Given the description of an element on the screen output the (x, y) to click on. 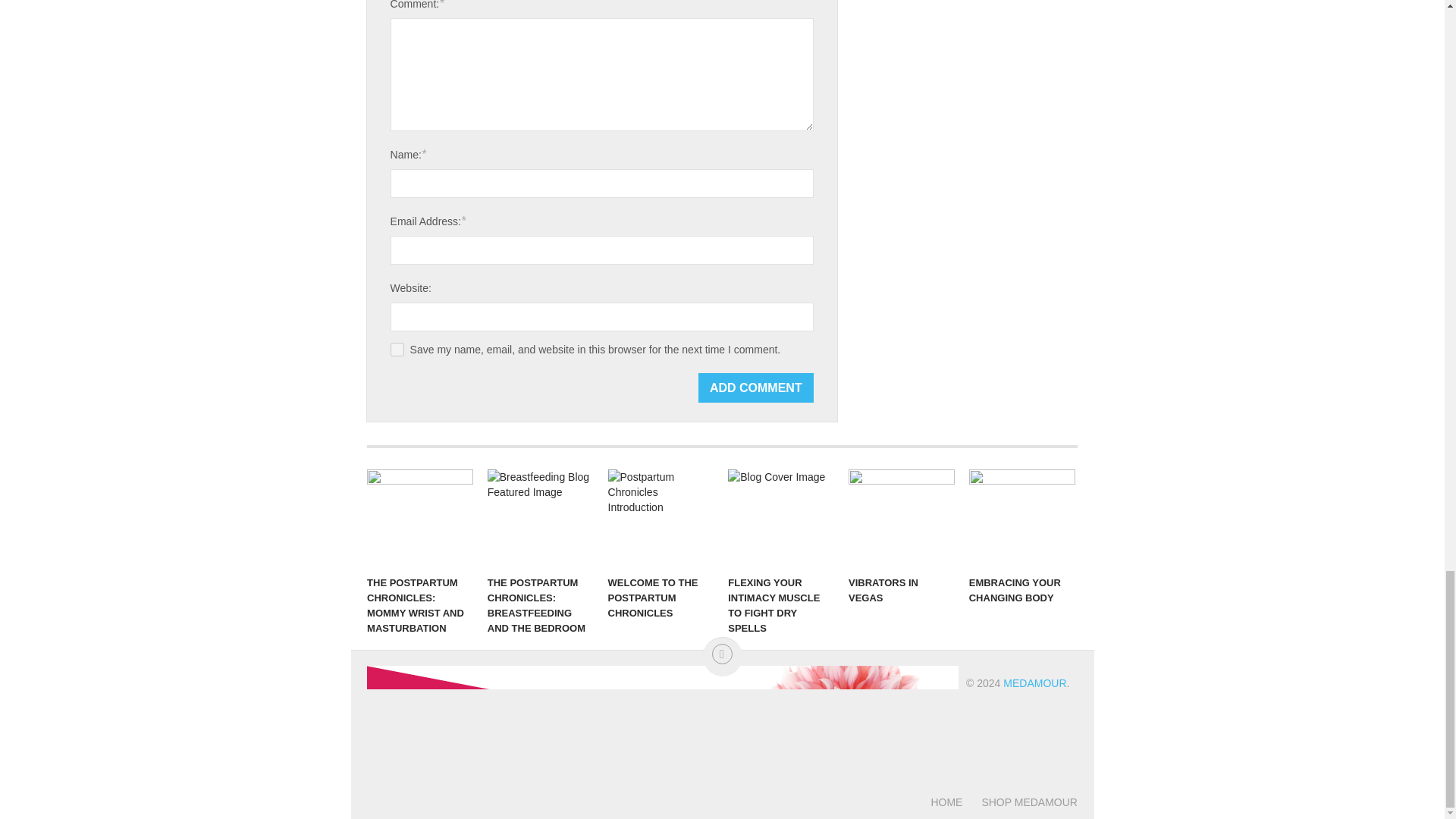
Add Comment (755, 387)
yes (397, 349)
Add Comment (755, 387)
